Given the description of an element on the screen output the (x, y) to click on. 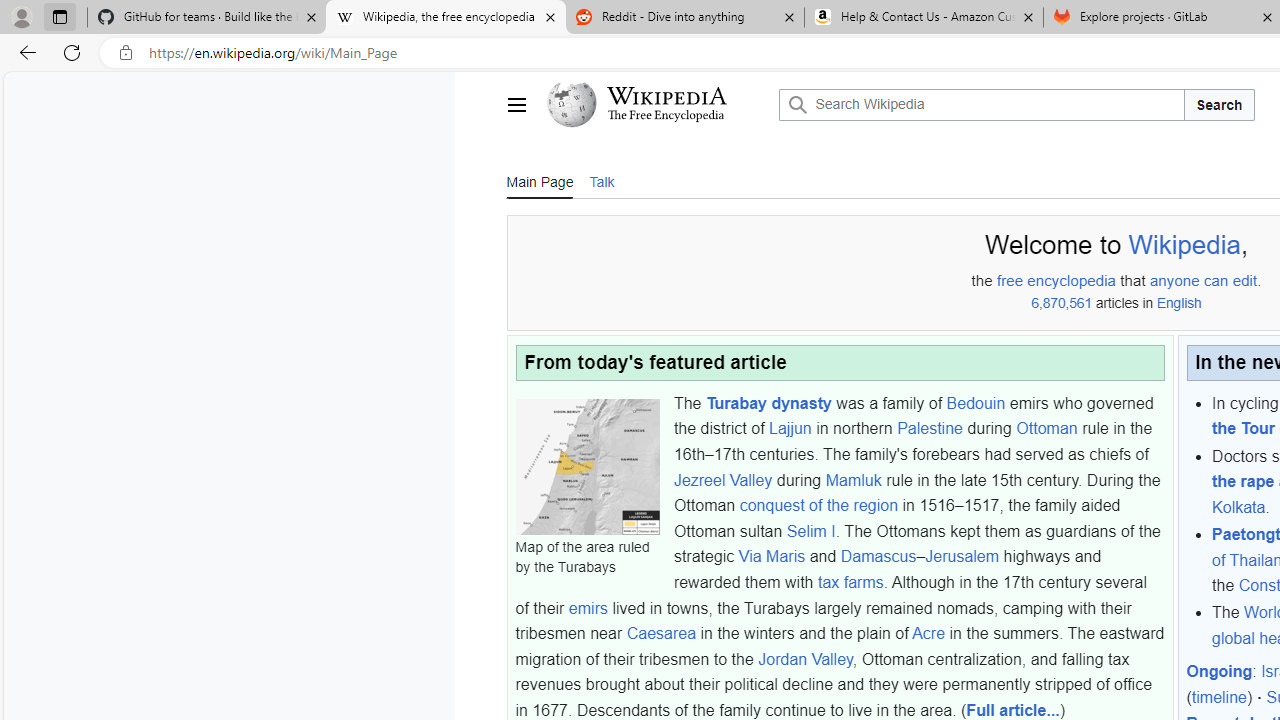
Main Page (539, 181)
(timeline) (1219, 698)
Jerusalem (962, 556)
Jordan Valley (804, 659)
Help & Contact Us - Amazon Customer Service (924, 17)
Map of the area ruled by the Turabays (587, 466)
Caesarea (661, 633)
6,870,561 (1060, 303)
Reddit - Dive into anything (684, 17)
Turabay dynasty (768, 402)
Kolkata (1238, 507)
Wikipedia The Free Encyclopedia (657, 104)
